Given the description of an element on the screen output the (x, y) to click on. 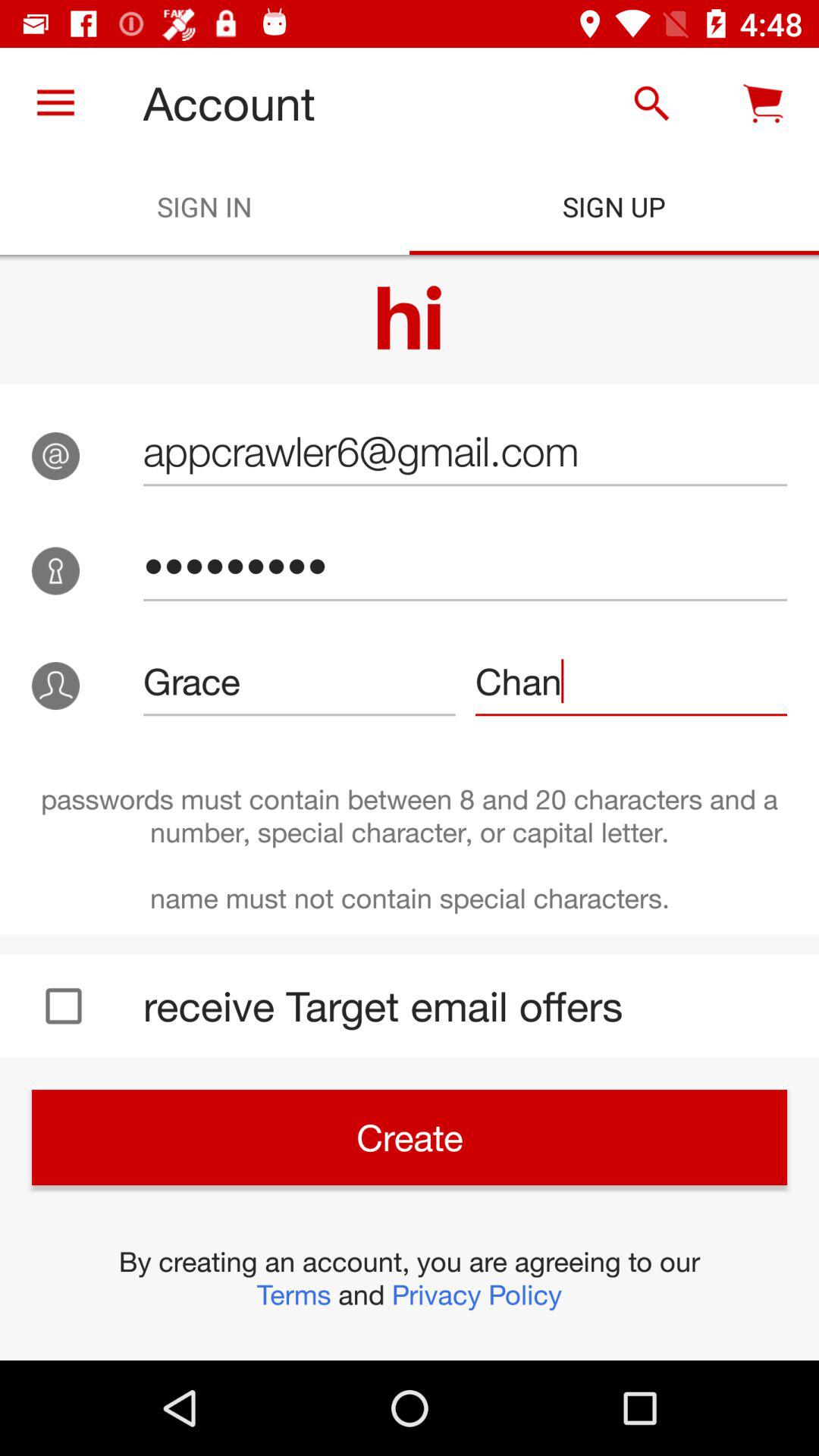
click the by creating an icon (409, 1277)
